Given the description of an element on the screen output the (x, y) to click on. 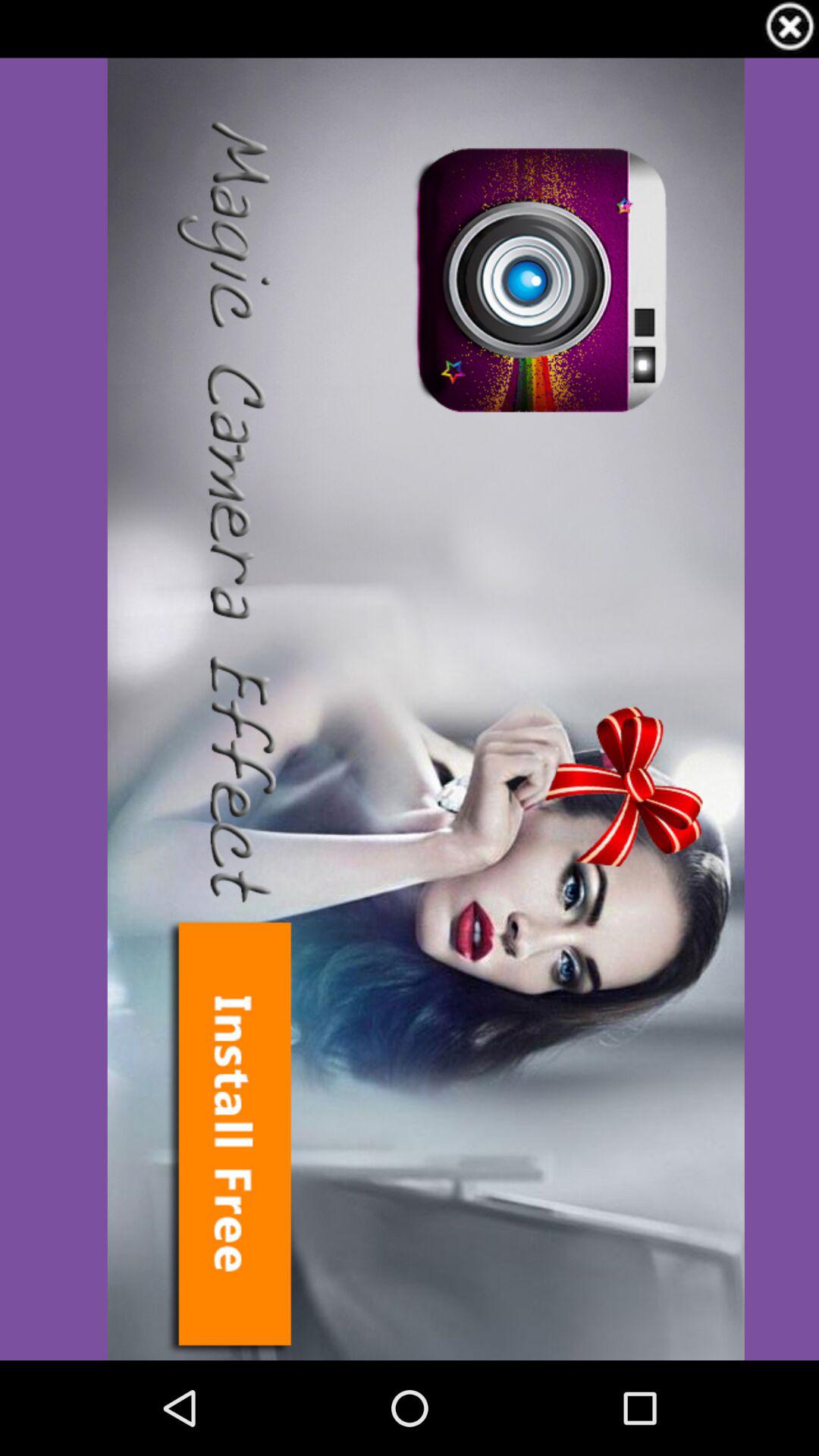
close the option (789, 29)
